Given the description of an element on the screen output the (x, y) to click on. 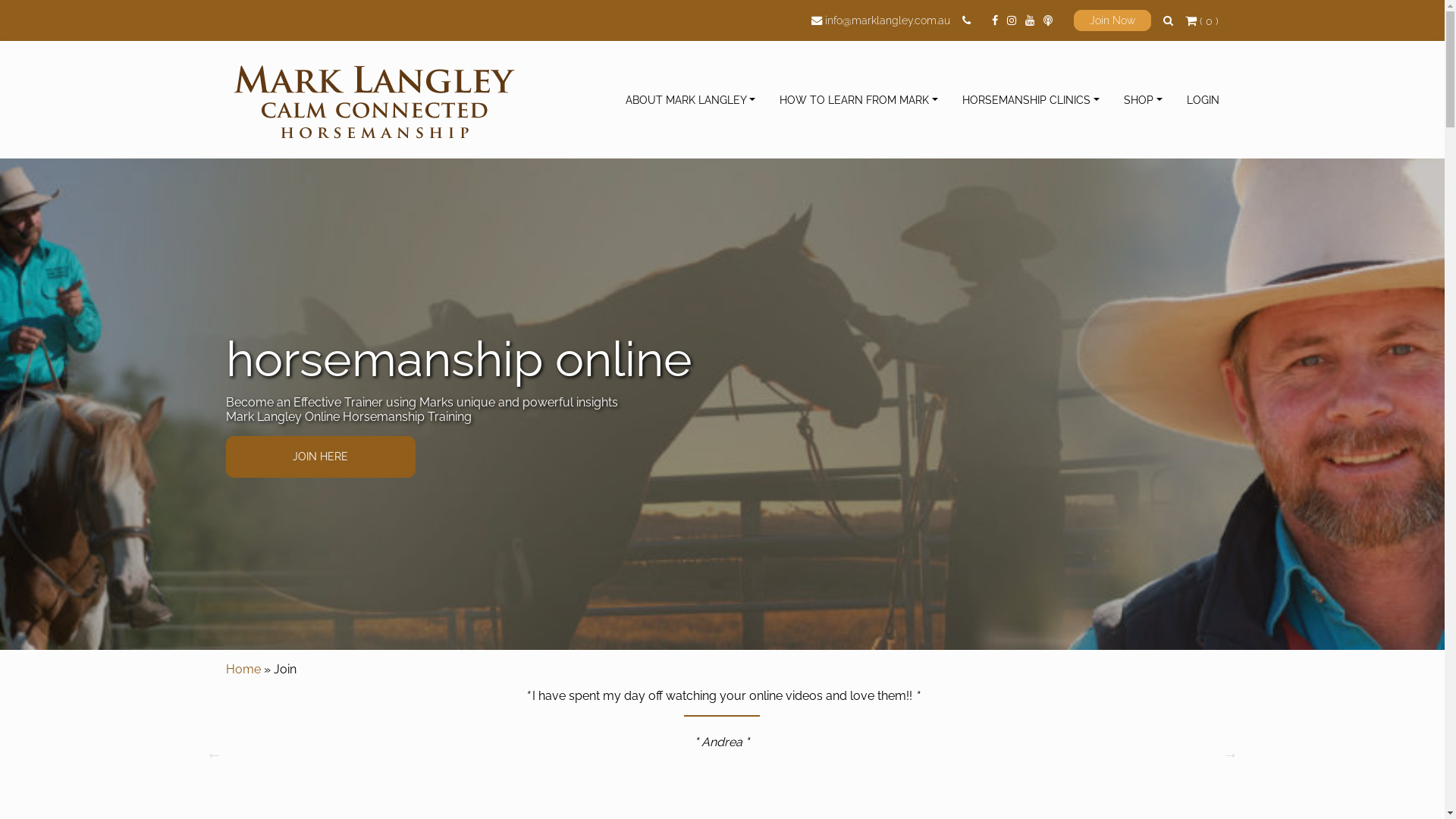
Join Now Element type: text (1111, 20)
Home Element type: text (242, 669)
HORSEMANSHIP CLINICS Element type: text (1036, 99)
HOW TO LEARN FROM MARK Element type: text (864, 99)
SHOP Element type: text (1148, 99)
JOIN HERE Element type: text (320, 456)
Search Element type: text (924, 26)
info@marklangley.com.au Element type: text (887, 19)
Search Element type: hover (1168, 19)
( 0 ) Element type: text (1200, 18)
ABOUT MARK LANGLEY Element type: text (696, 99)
LOGIN Element type: text (1198, 99)
Previous Element type: text (213, 754)
Next Element type: text (1229, 754)
